Given the description of an element on the screen output the (x, y) to click on. 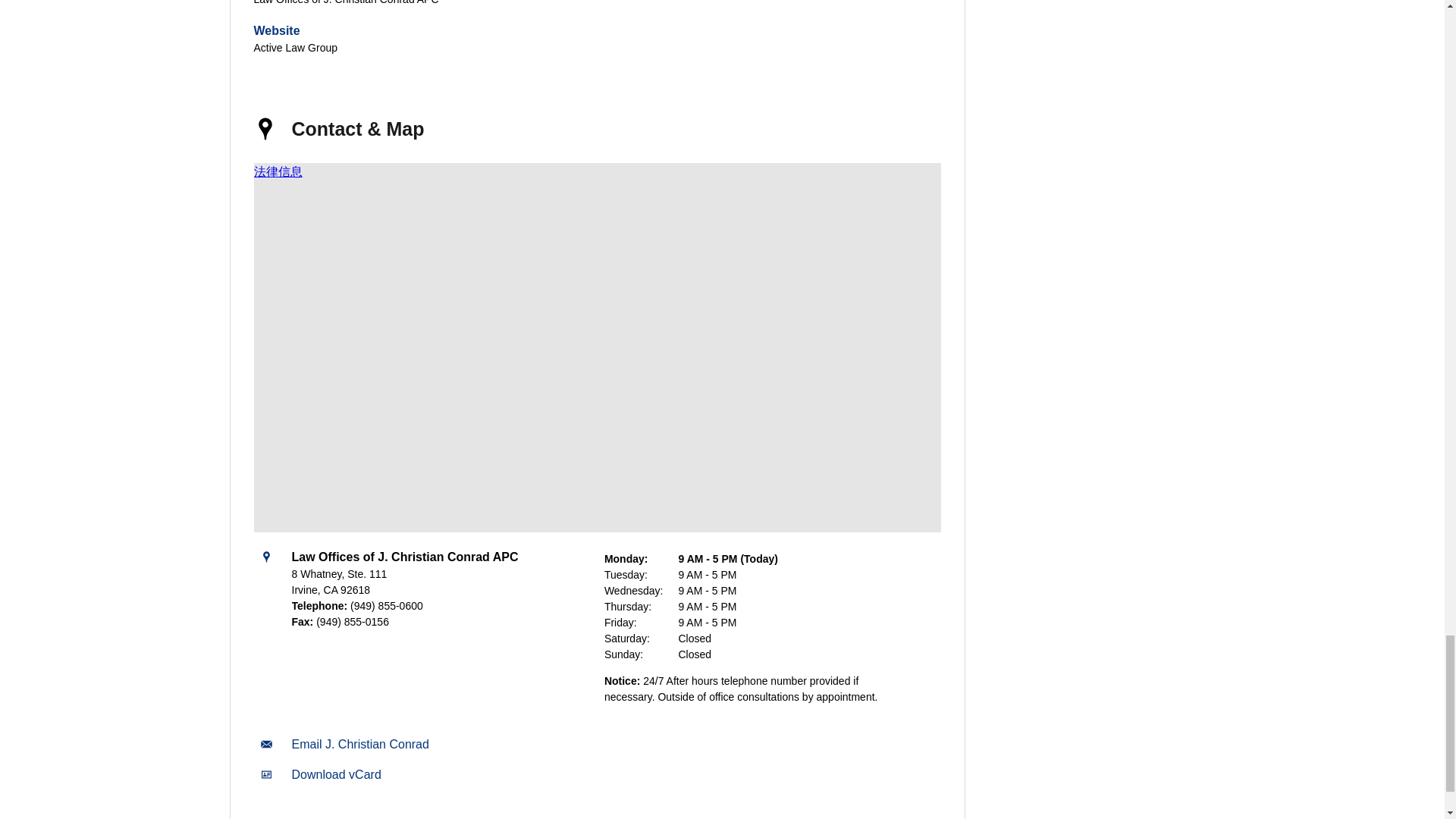
Email J. Christian Conrad (359, 744)
Download vCard (335, 774)
Website (276, 30)
